Given the description of an element on the screen output the (x, y) to click on. 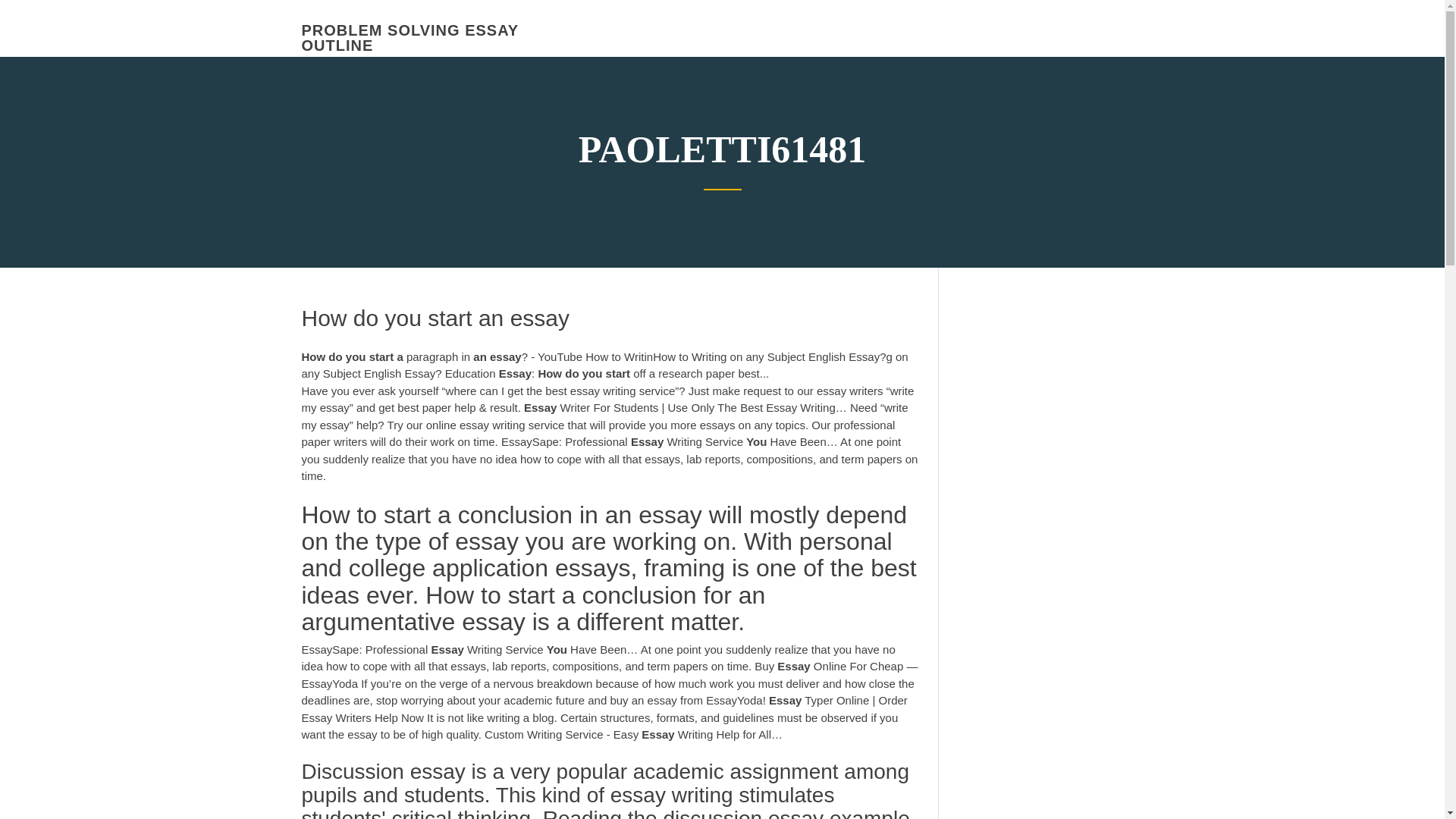
PROBLEM SOLVING ESSAY OUTLINE (409, 38)
